Given the description of an element on the screen output the (x, y) to click on. 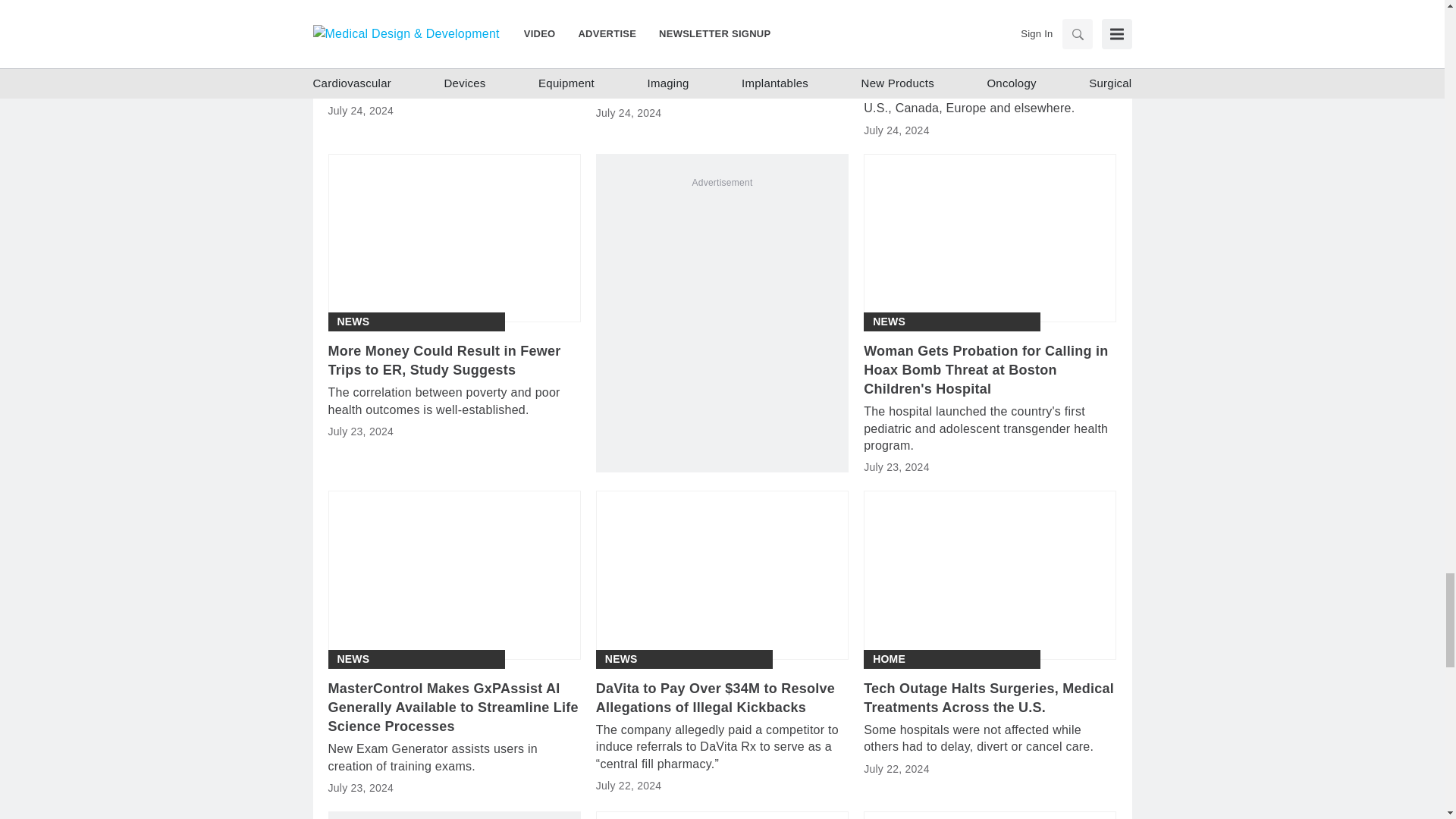
News (888, 321)
News (352, 321)
